Given the description of an element on the screen output the (x, y) to click on. 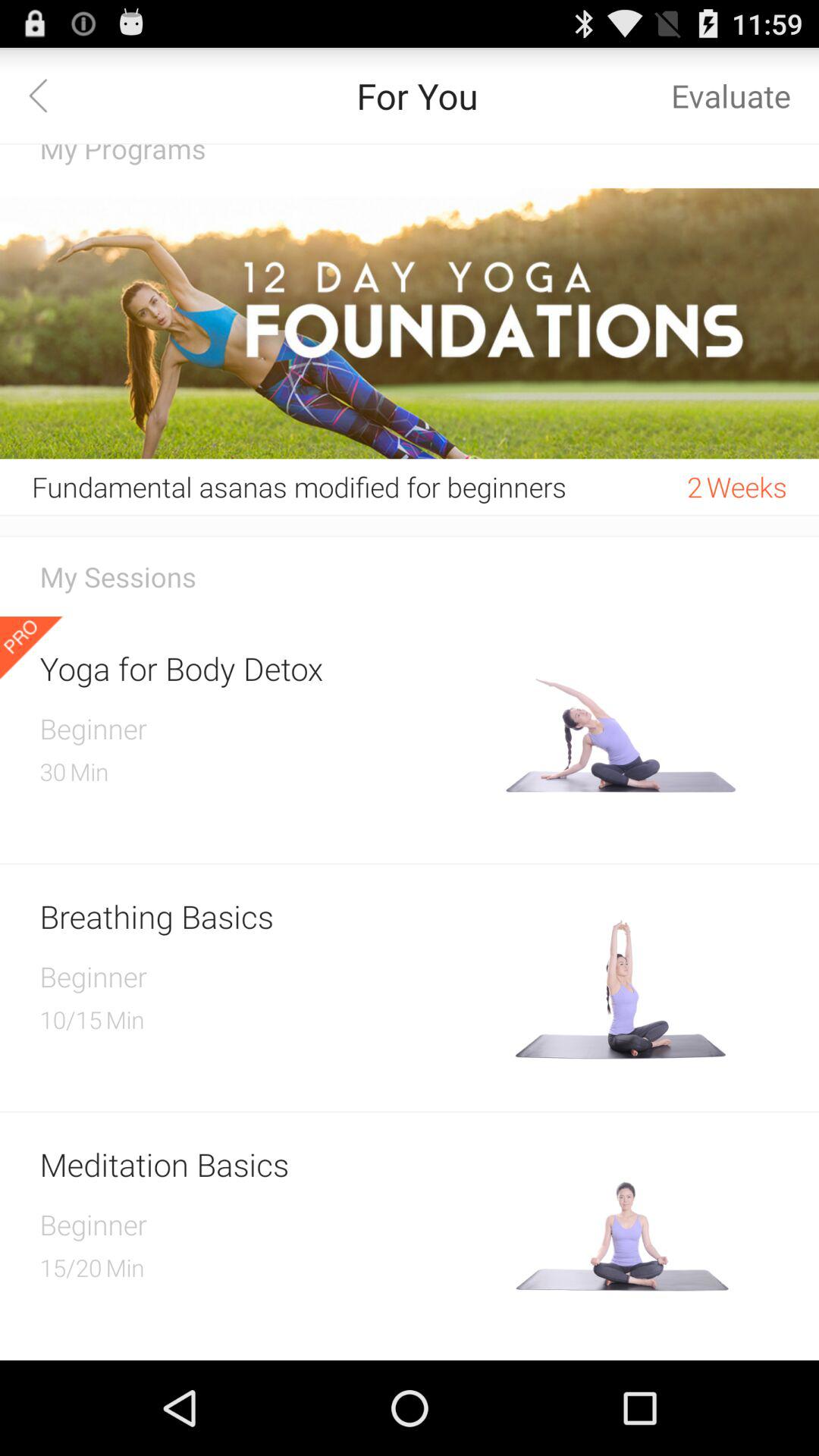
flip to the 30 (52, 771)
